Given the description of an element on the screen output the (x, y) to click on. 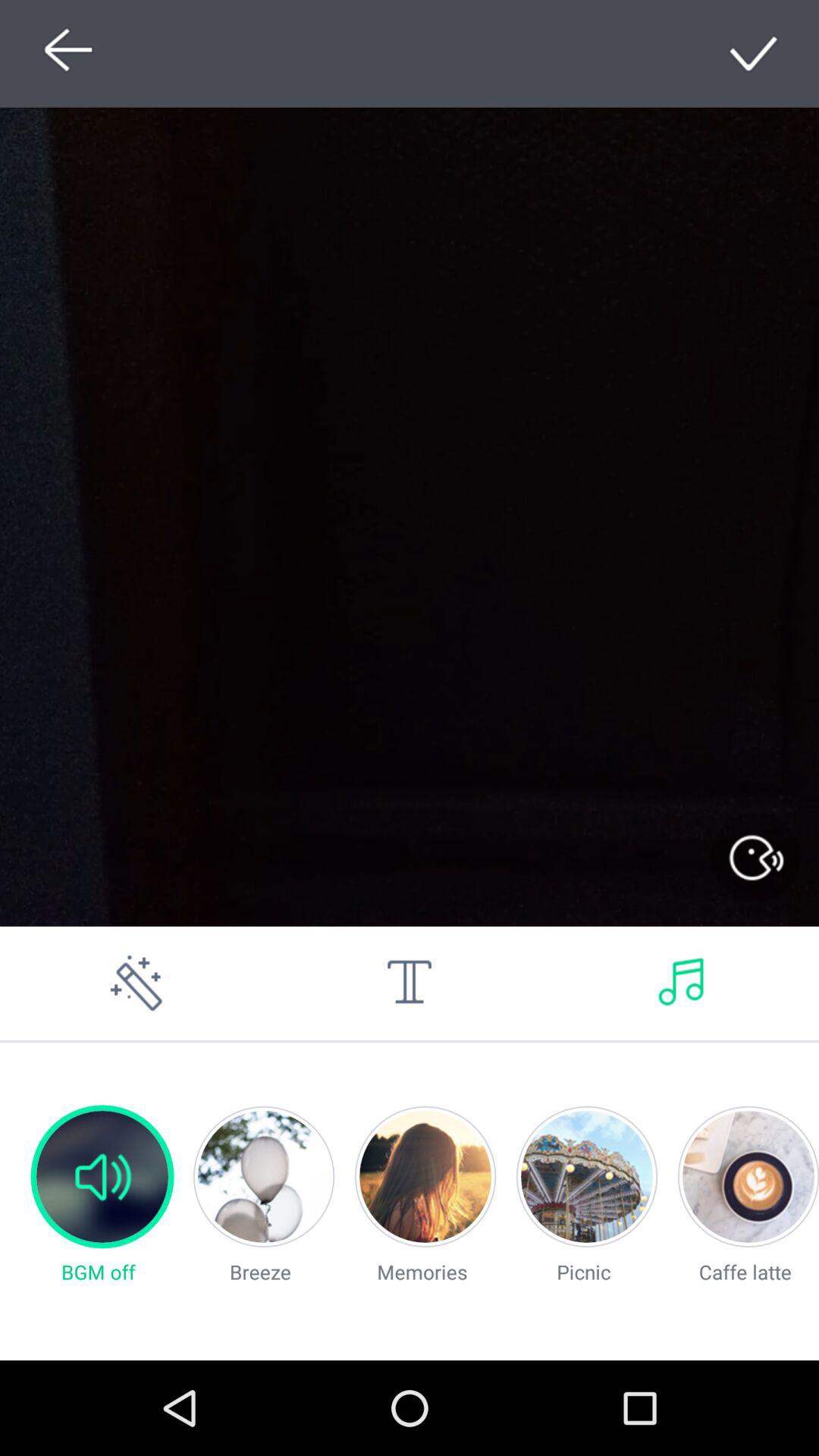
add music (682, 983)
